Given the description of an element on the screen output the (x, y) to click on. 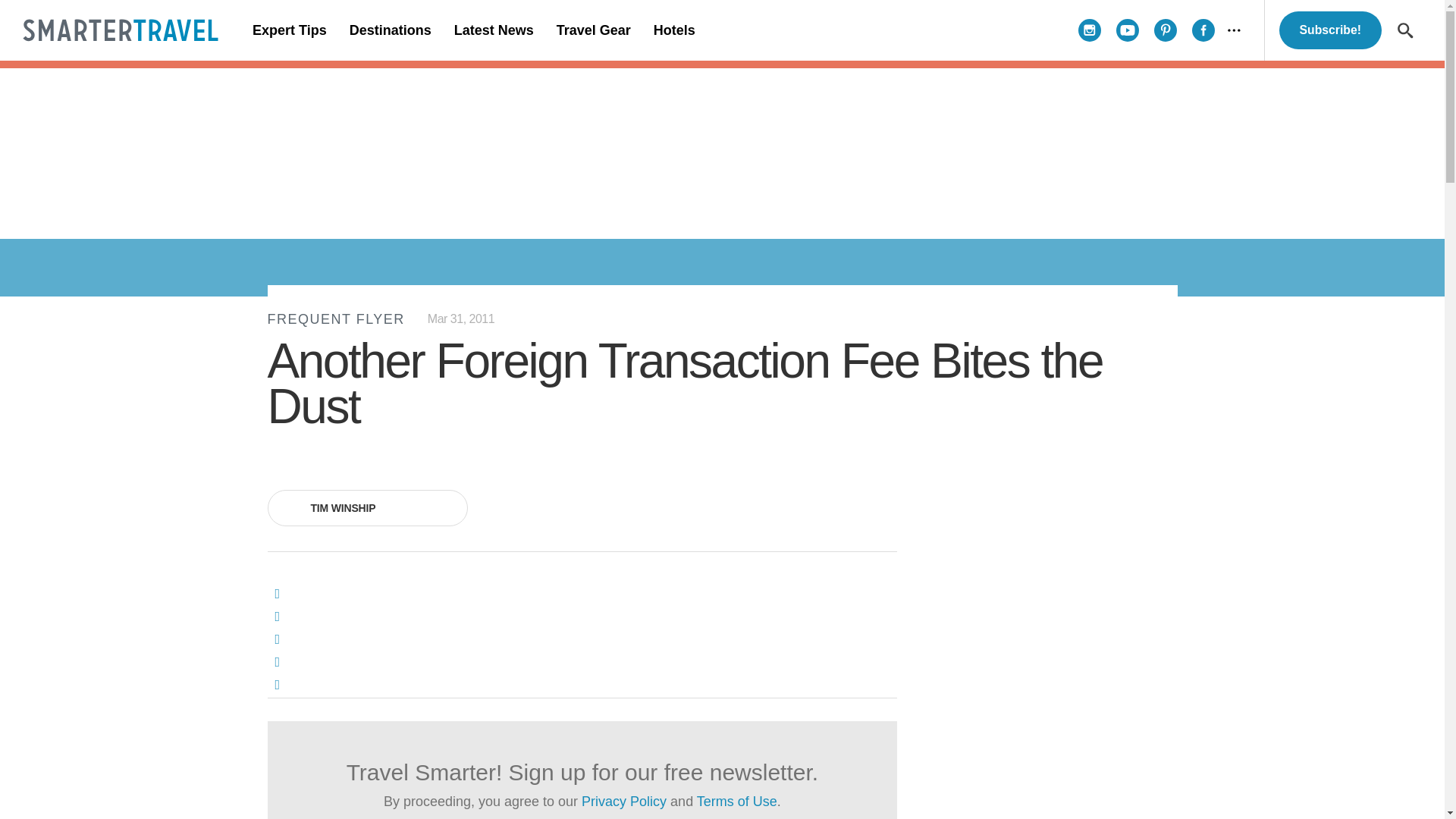
Subscribe! (1330, 30)
Destinations (389, 30)
Latest News (493, 30)
Expert Tips (289, 30)
Travel Gear (593, 30)
Hotels (674, 30)
